Given the description of an element on the screen output the (x, y) to click on. 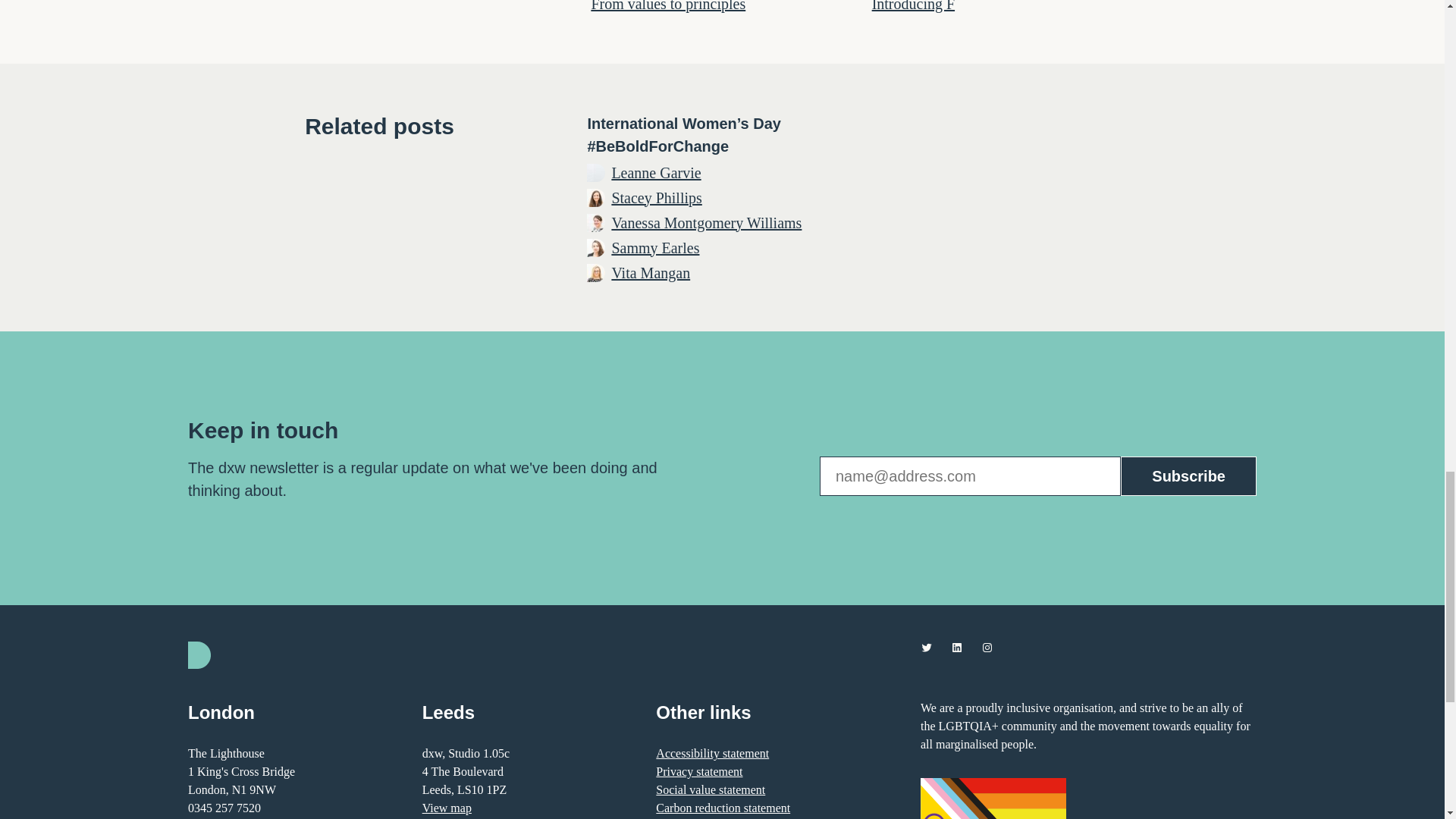
Posts by Sammy Earles (654, 247)
Subscribe (1188, 476)
Leanne Garvie (655, 171)
Introducing F (913, 6)
LinkedIn (956, 647)
Posts by Stacey Phillips (656, 197)
Instagram (986, 647)
Posts by Vanessa Montgomery Williams (706, 221)
Stacey Phillips (656, 197)
Posts by Leanne Garvie (655, 171)
Vanessa Montgomery Williams (706, 221)
Vita Mangan (650, 271)
Twitter (926, 647)
Posts by Vita Mangan (650, 271)
Sammy Earles (654, 247)
